Given the description of an element on the screen output the (x, y) to click on. 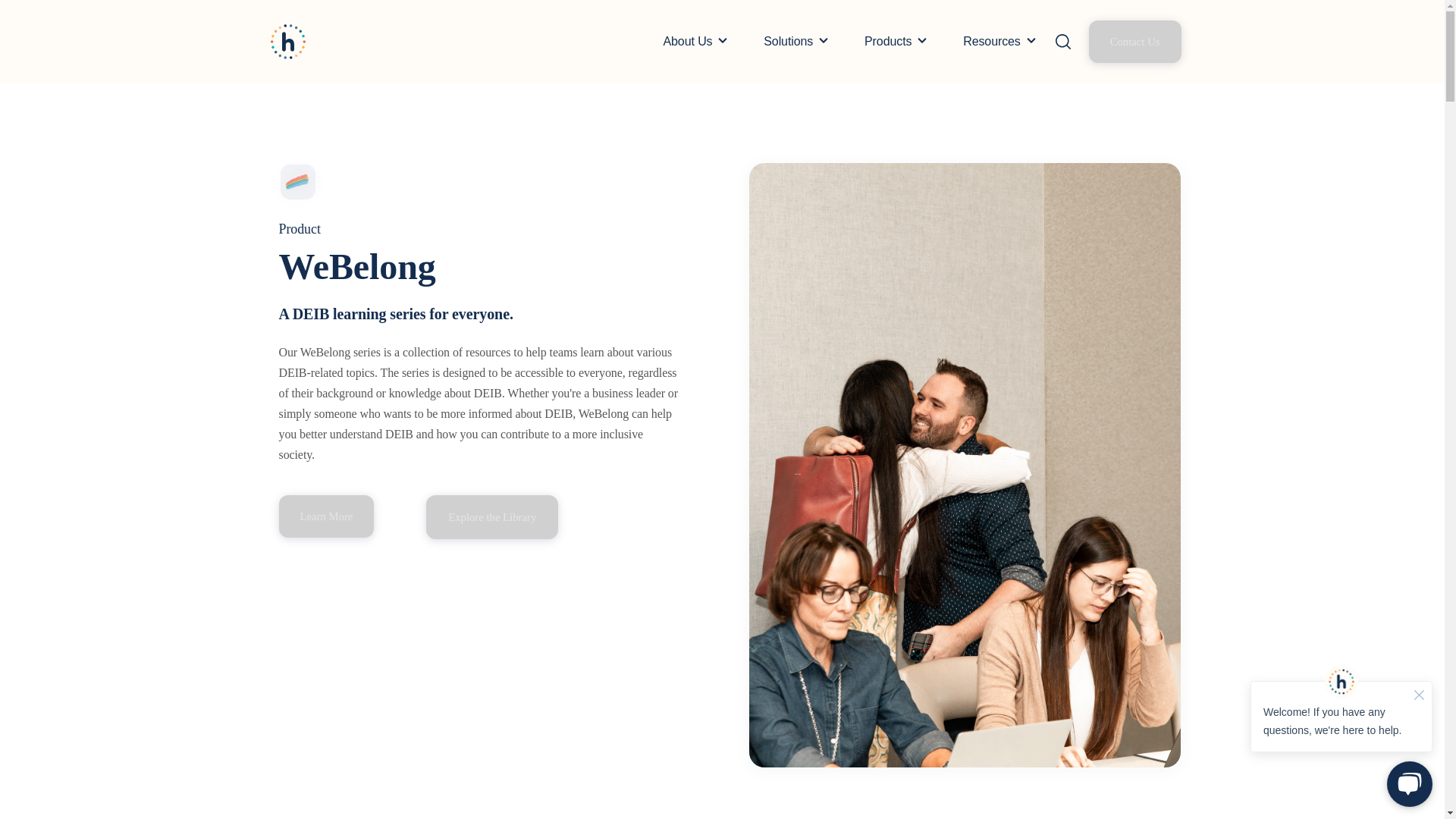
Learn More (326, 516)
Contact Us (1134, 41)
About Us (686, 41)
Explore the Library (491, 516)
Resources (991, 41)
livingHR (288, 41)
Learn More (326, 515)
Products (887, 41)
Solutions (787, 41)
Explore the Library (491, 516)
Contact Us (1134, 41)
